Given the description of an element on the screen output the (x, y) to click on. 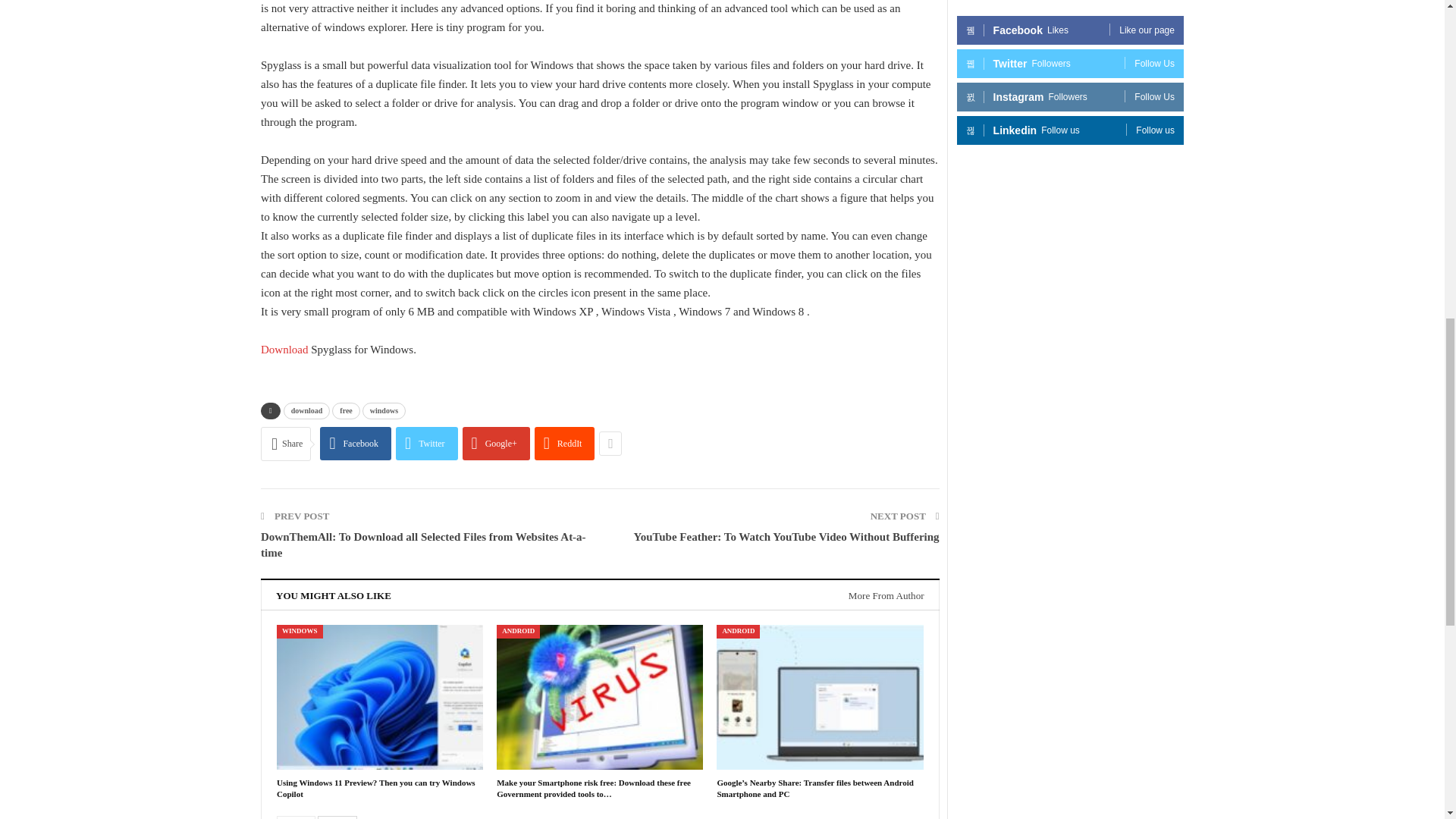
Using Windows 11 Preview? Then you can try Windows Copilot (376, 788)
Previous (295, 817)
Using Windows 11 Preview? Then you can try Windows Copilot (379, 696)
